Given the description of an element on the screen output the (x, y) to click on. 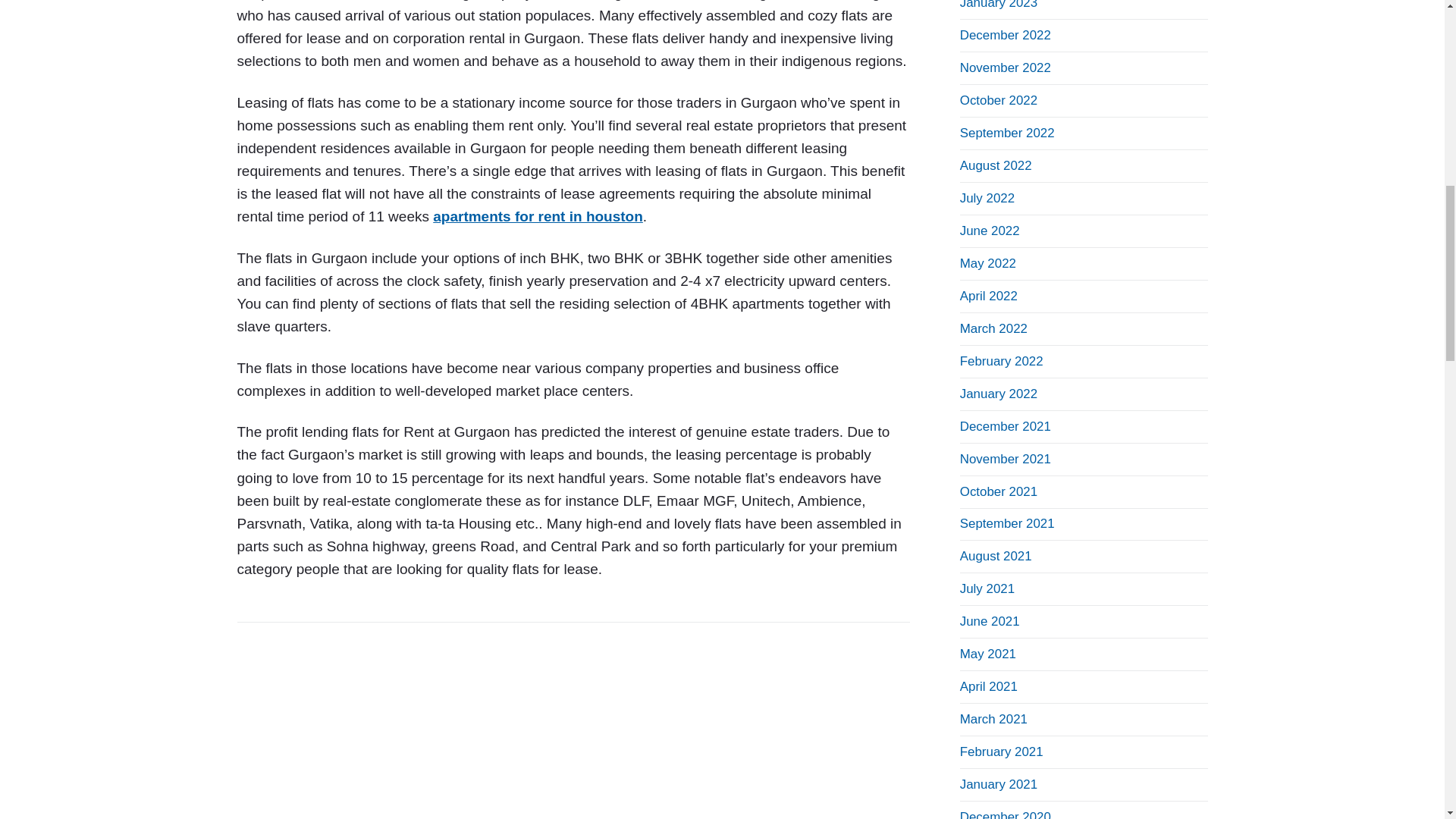
March 2022 (993, 328)
July 2022 (986, 197)
January 2023 (997, 4)
apartments for rent in houston (537, 216)
September 2022 (1006, 133)
December 2022 (1005, 34)
November 2022 (1005, 67)
October 2022 (997, 100)
June 2022 (989, 230)
May 2022 (987, 263)
August 2022 (995, 165)
April 2022 (988, 296)
